Given the description of an element on the screen output the (x, y) to click on. 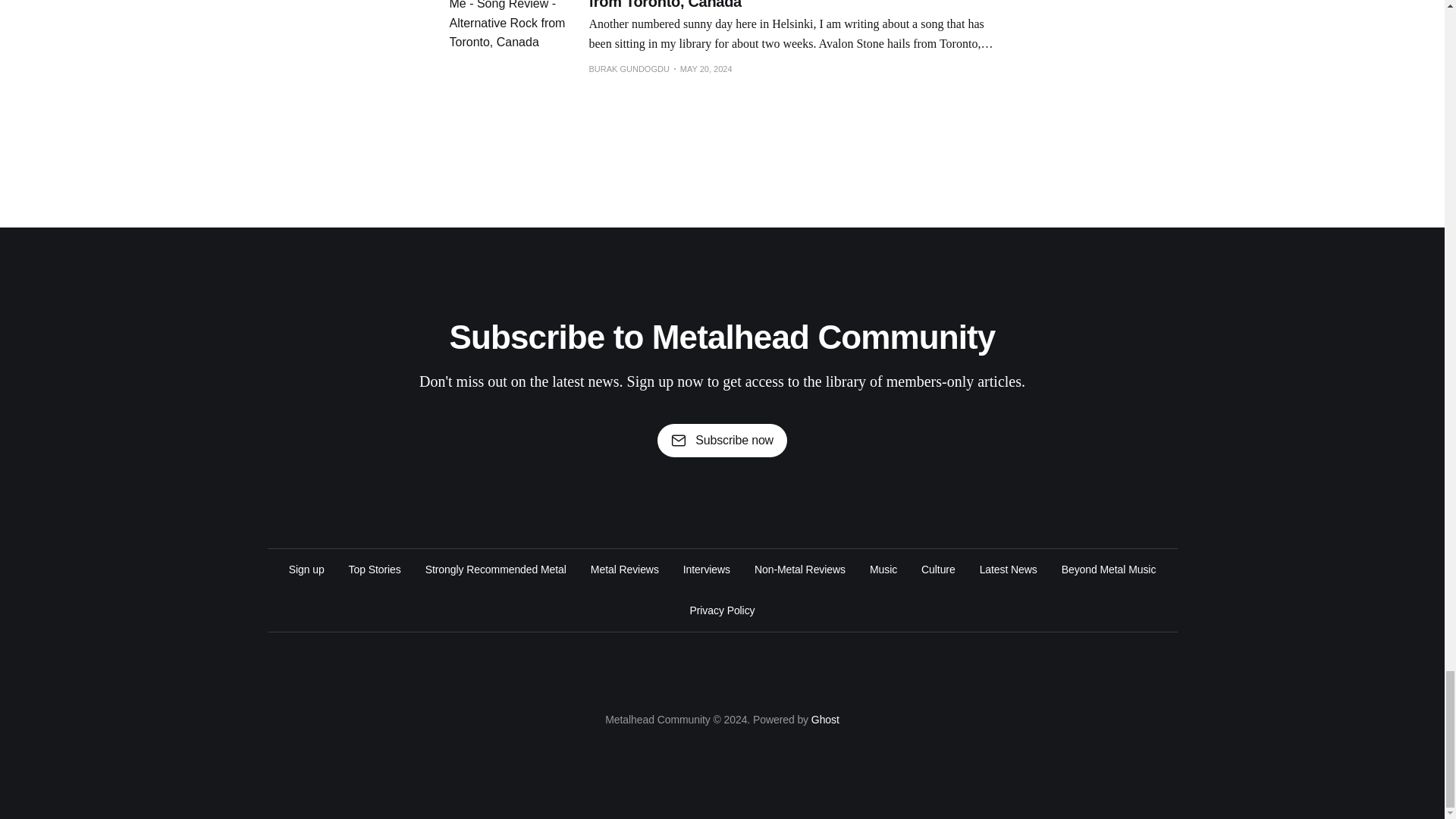
Sign up (306, 569)
Non-Metal Reviews (799, 569)
Culture (938, 569)
Latest News (1007, 569)
Privacy Policy (722, 610)
Beyond Metal Music (1108, 569)
Metal Reviews (625, 569)
Music (882, 569)
Ghost (825, 719)
Top Stories (375, 569)
Strongly Recommended Metal (495, 569)
Subscribe now (722, 440)
Interviews (706, 569)
